Given the description of an element on the screen output the (x, y) to click on. 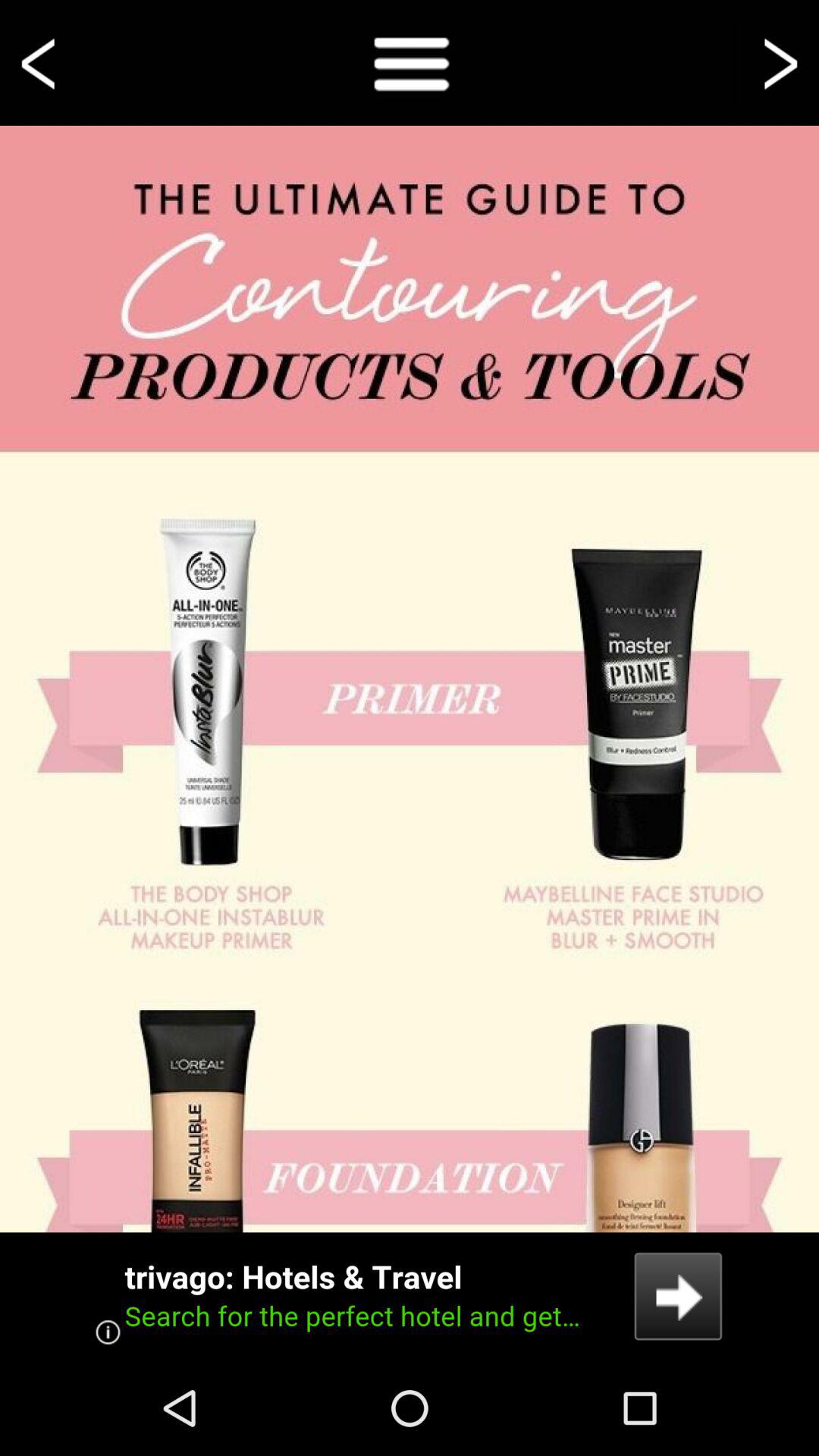
press the option button (409, 62)
